Given the description of an element on the screen output the (x, y) to click on. 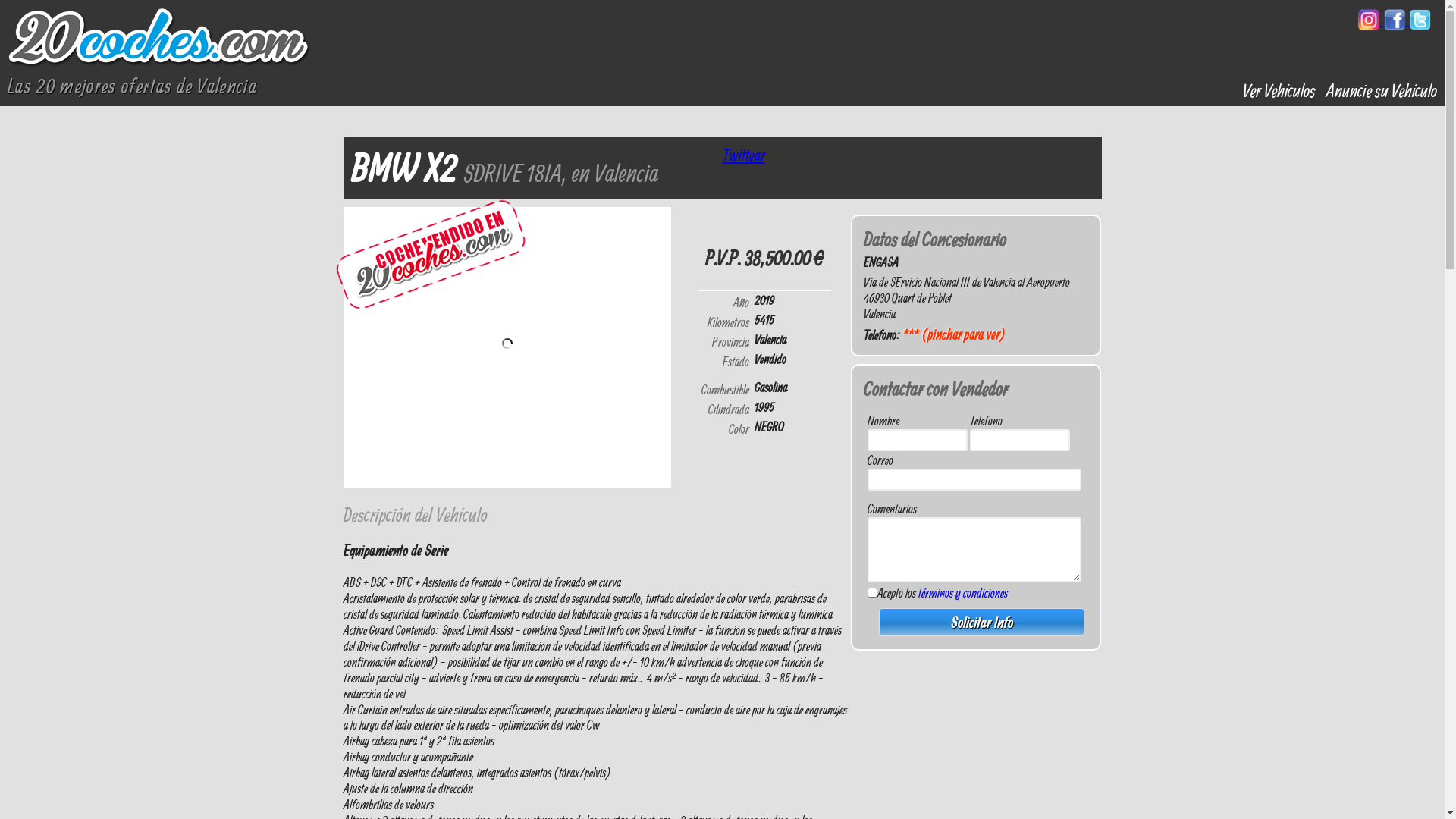
Solicitar Info Element type: text (981, 622)
Twittear Element type: text (742, 153)
